Given the description of an element on the screen output the (x, y) to click on. 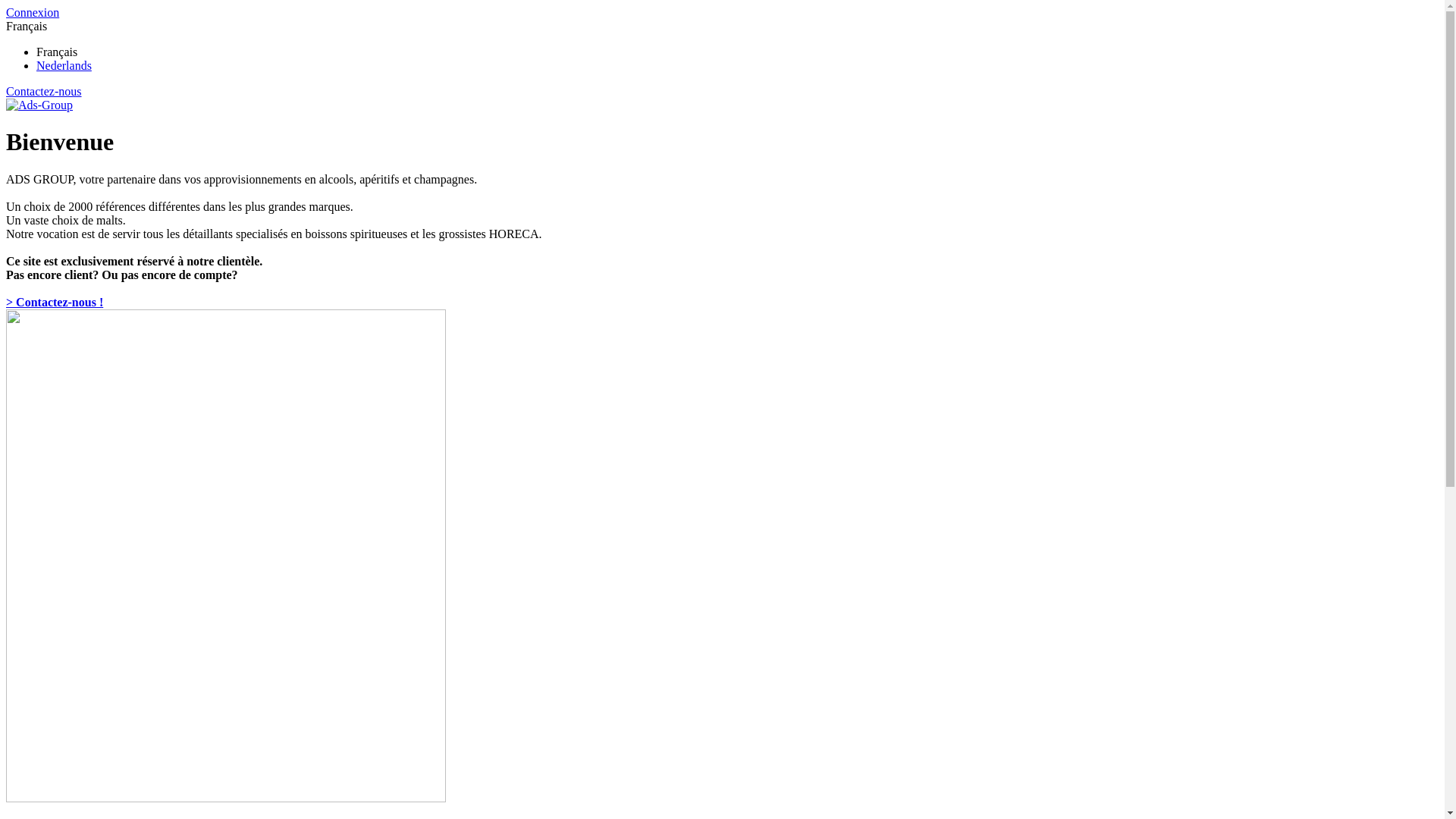
Nederlands Element type: text (63, 65)
Connexion Element type: text (32, 12)
Ads-Group Element type: hover (39, 104)
Contactez-nous Element type: text (43, 90)
> Contactez-nous ! Element type: text (54, 301)
